Given the description of an element on the screen output the (x, y) to click on. 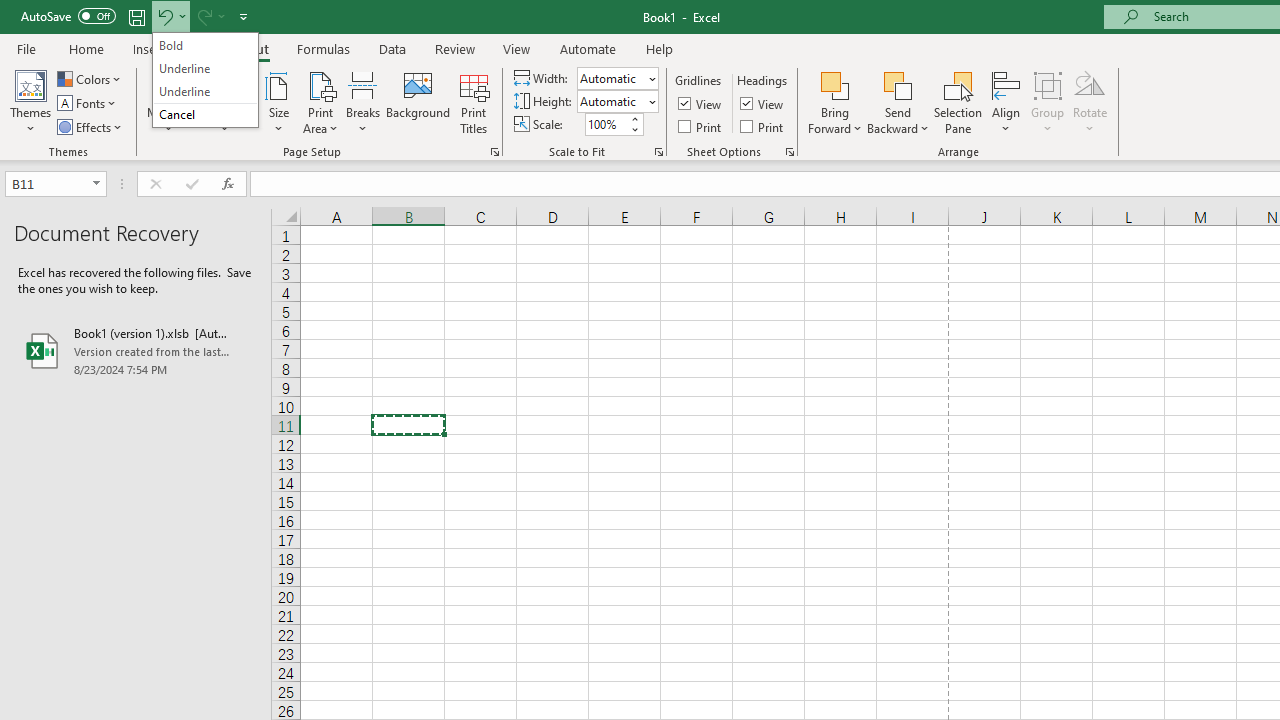
Colors (90, 78)
Height (611, 101)
Scale (605, 124)
